Given the description of an element on the screen output the (x, y) to click on. 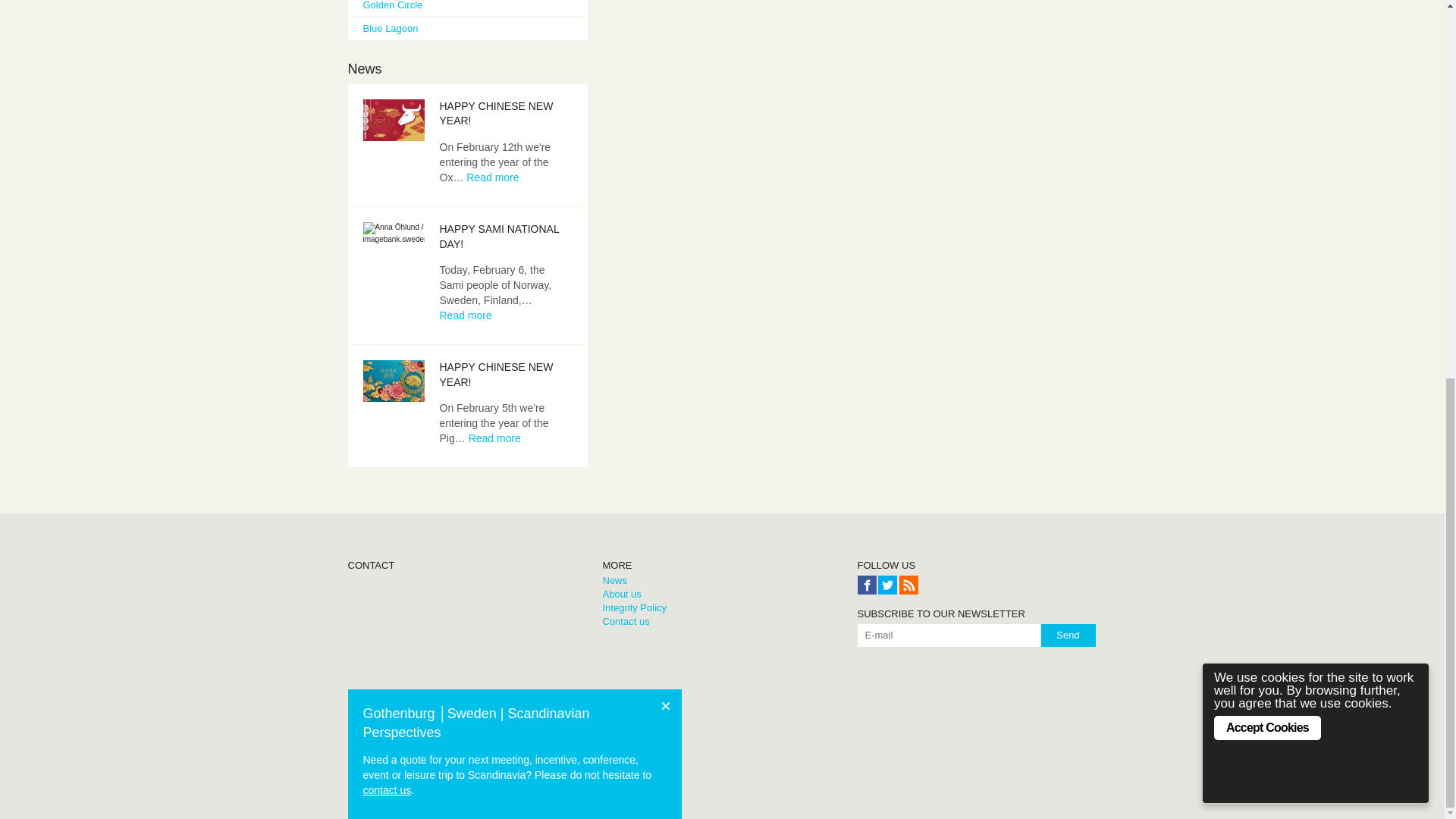
contact us (386, 90)
Send (1067, 635)
